Given the description of an element on the screen output the (x, y) to click on. 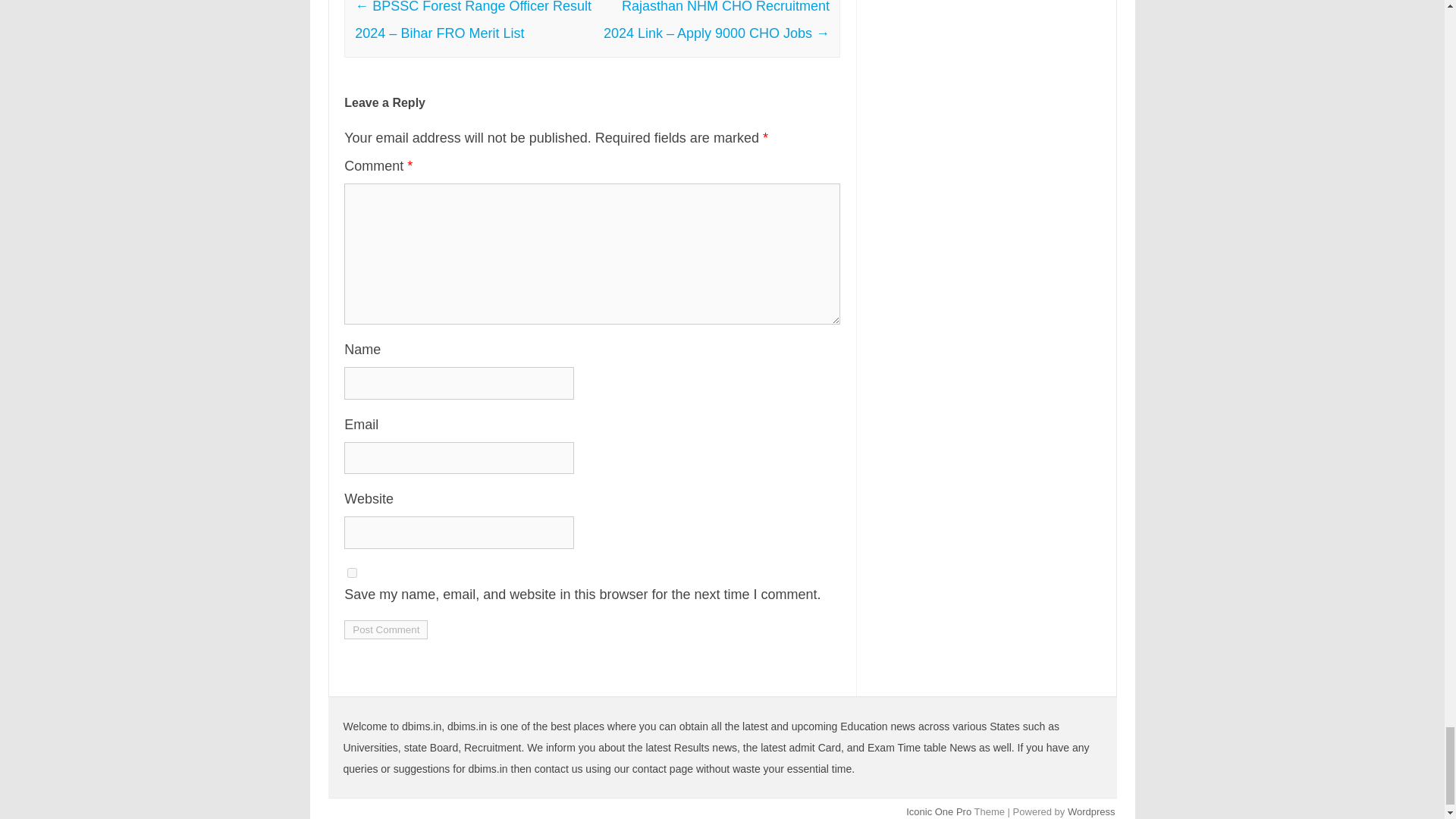
Post Comment (385, 629)
Post Comment (385, 629)
yes (351, 573)
